Given the description of an element on the screen output the (x, y) to click on. 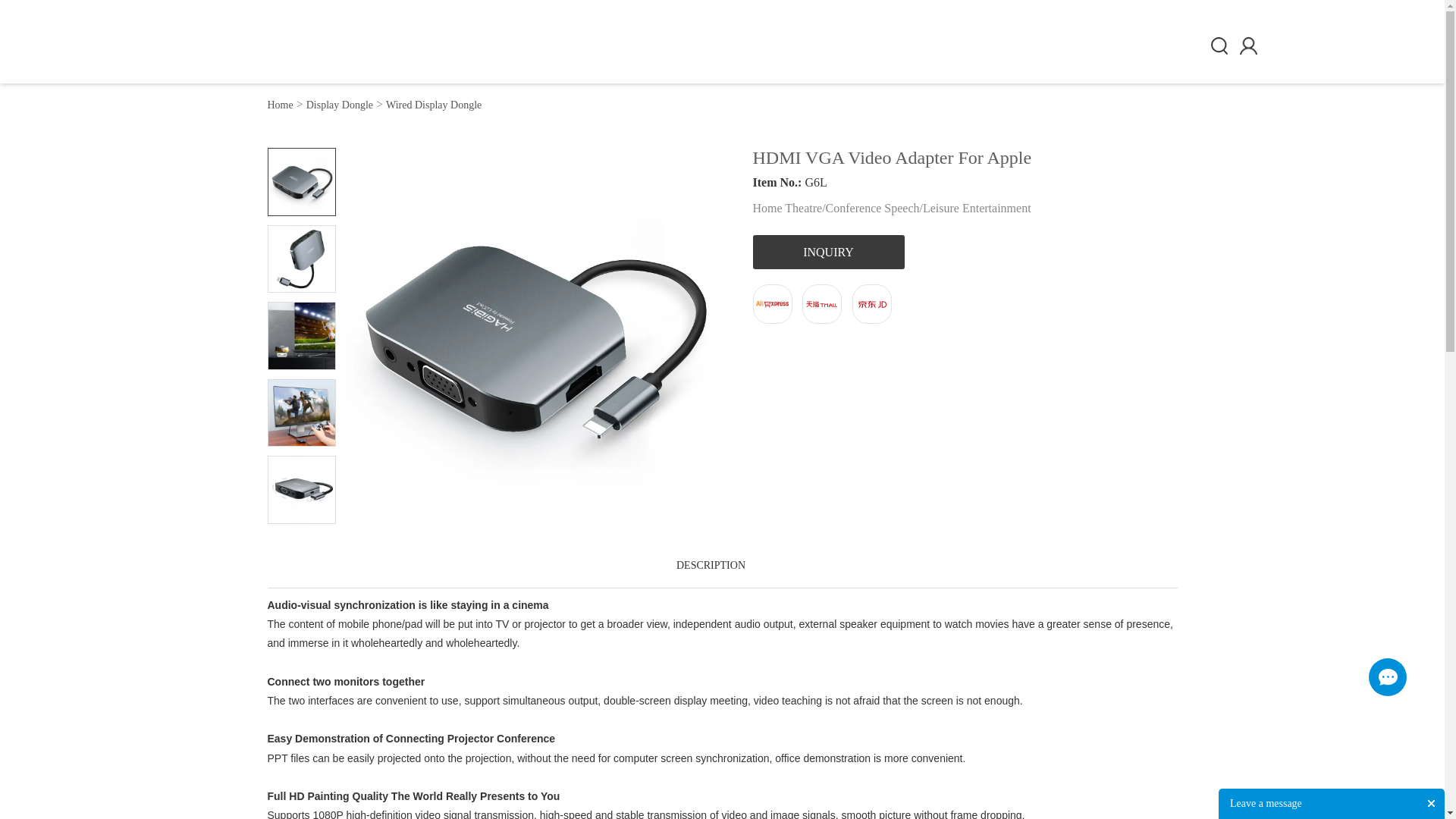
HOME (437, 45)
HOME (437, 45)
PRODUCTS (643, 45)
Products (643, 45)
About Us (861, 45)
